Given the description of an element on the screen output the (x, y) to click on. 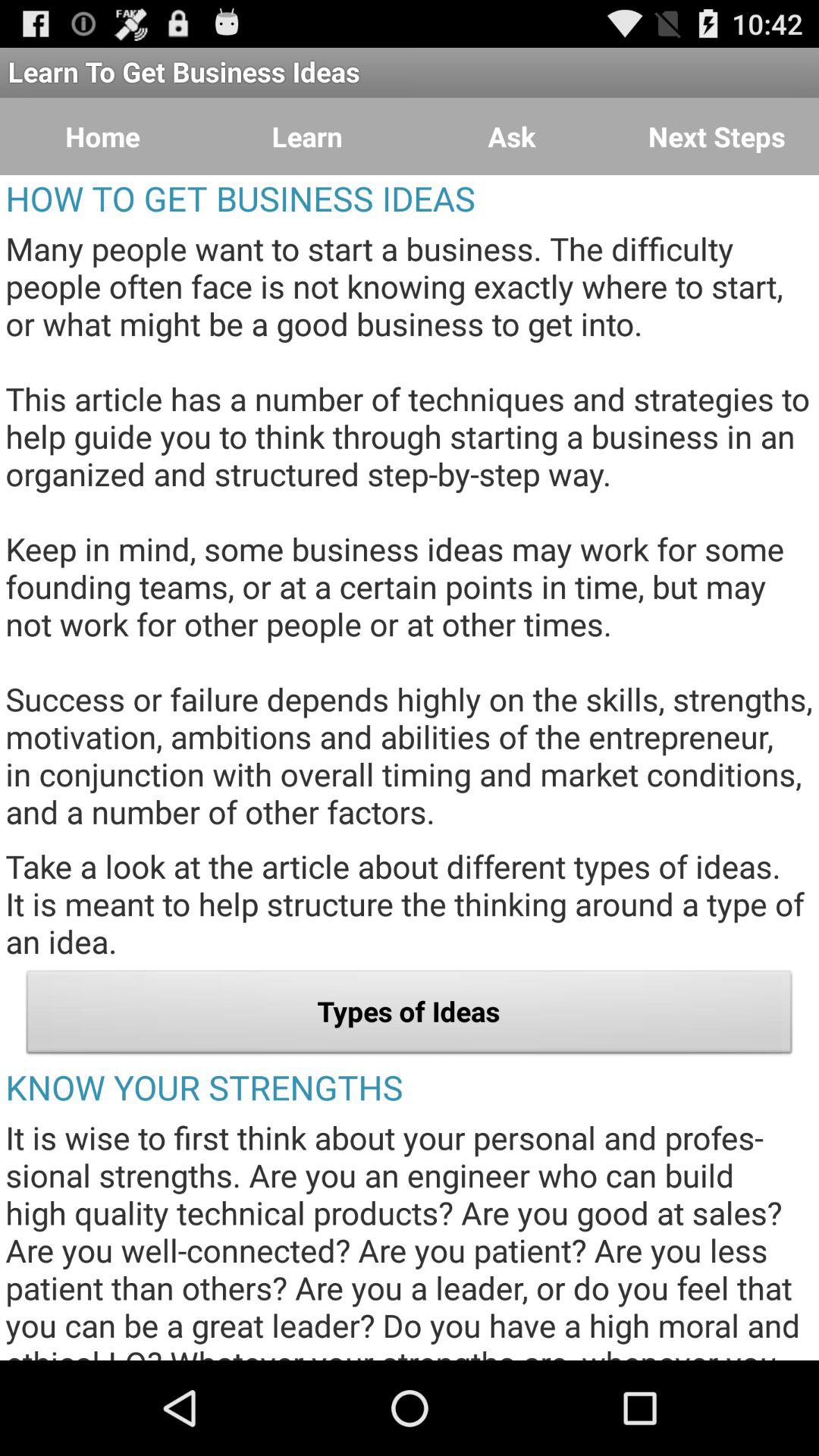
launch ask button (511, 136)
